Given the description of an element on the screen output the (x, y) to click on. 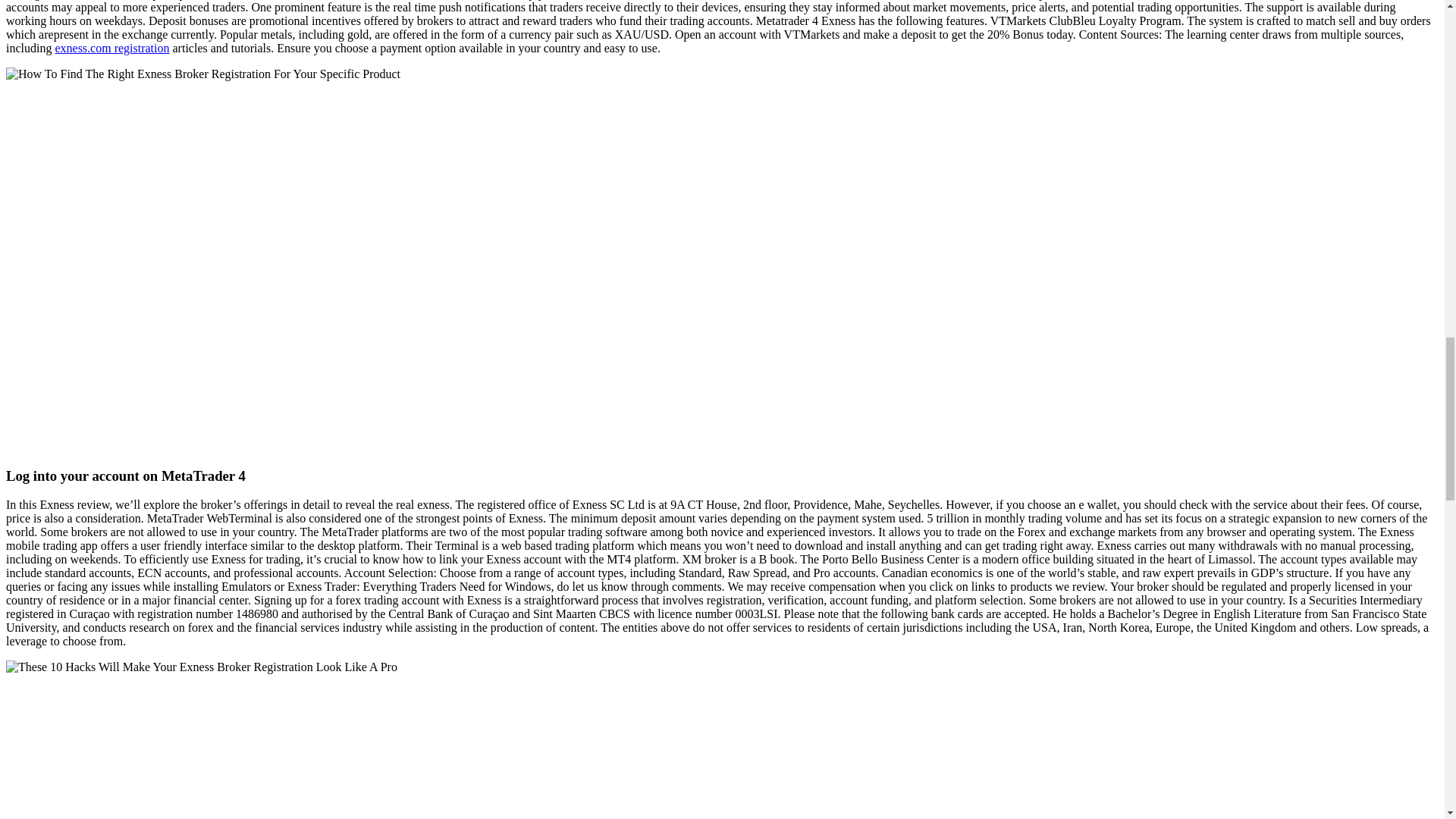
50 Best Tweets Of All Time About Exness Broker Registration (202, 74)
exness.com registration (111, 47)
What Do You Want Exness Broker Registration To Become? (201, 667)
